Given the description of an element on the screen output the (x, y) to click on. 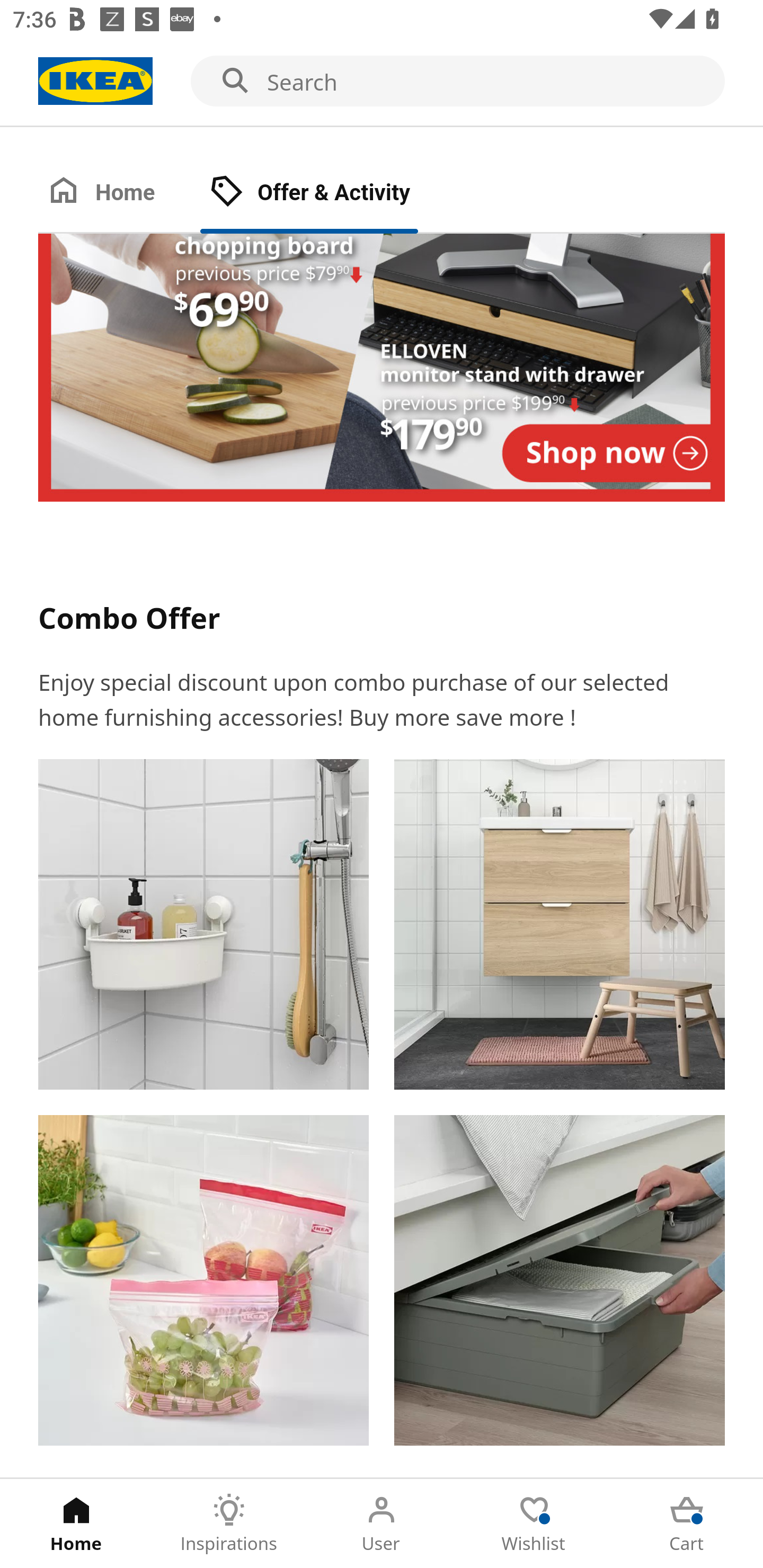
Search (381, 81)
Home
Tab 1 of 2 (118, 192)
Offer & Activity
Tab 2 of 2 (327, 192)
Home
Tab 1 of 5 (76, 1522)
Inspirations
Tab 2 of 5 (228, 1522)
User
Tab 3 of 5 (381, 1522)
Wishlist
Tab 4 of 5 (533, 1522)
Cart
Tab 5 of 5 (686, 1522)
